Given the description of an element on the screen output the (x, y) to click on. 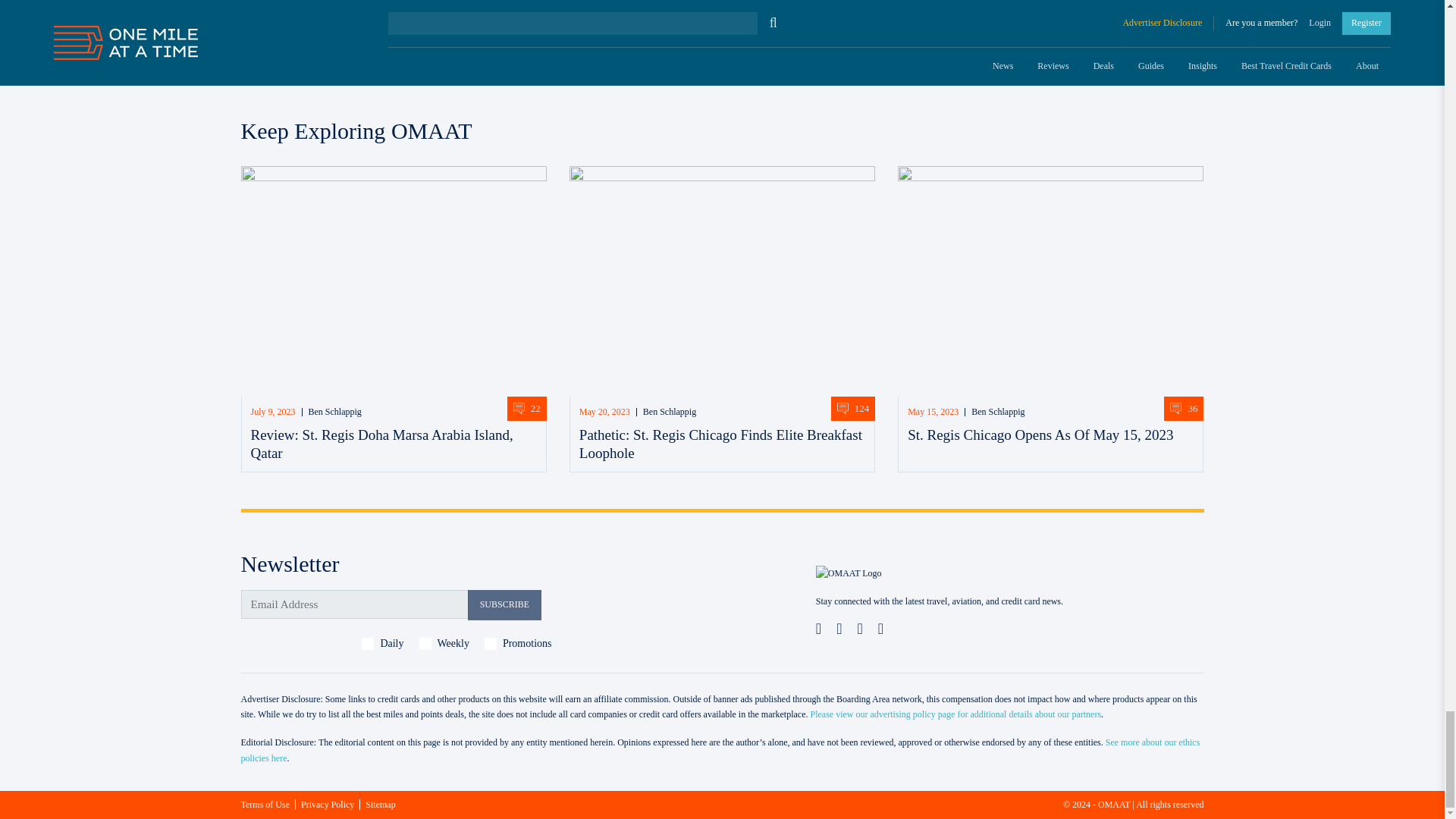
Review: St. Regis Doha Marsa Arabia Island, Qatar (394, 281)
St. Regis Chicago Opens As Of May 15, 2023 (1051, 281)
Pathetic: St. Regis Chicago Finds Elite Breakfast Loophole (720, 443)
Pathetic: St. Regis Chicago Finds Elite Breakfast Loophole (722, 281)
St. Regis Chicago Opens As Of May 15, 2023 (1040, 434)
Review: St. Regis Doha Marsa Arabia Island, Qatar (381, 443)
